Given the description of an element on the screen output the (x, y) to click on. 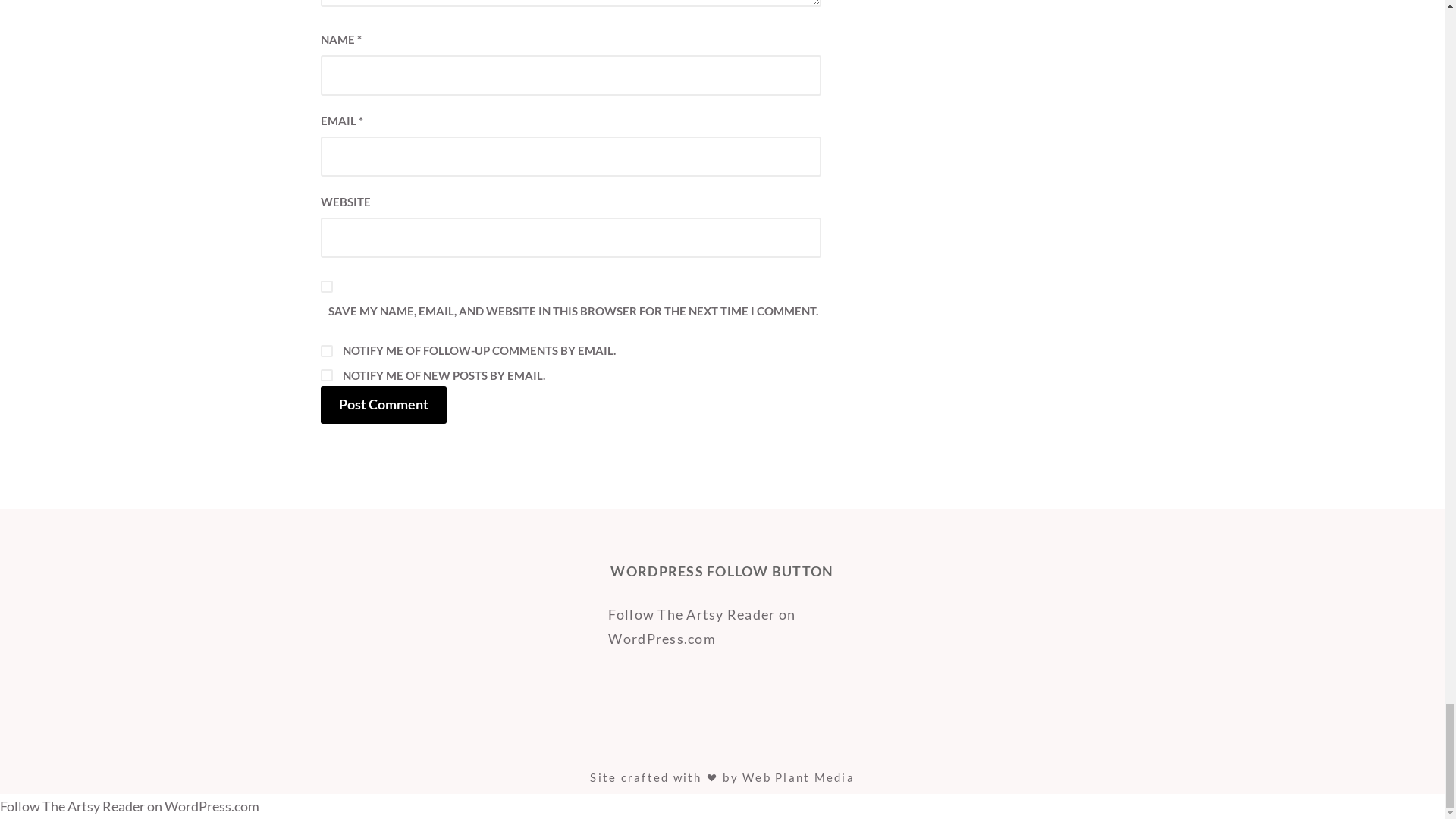
yes (325, 286)
subscribe (325, 375)
subscribe (325, 350)
Post Comment (382, 404)
